Given the description of an element on the screen output the (x, y) to click on. 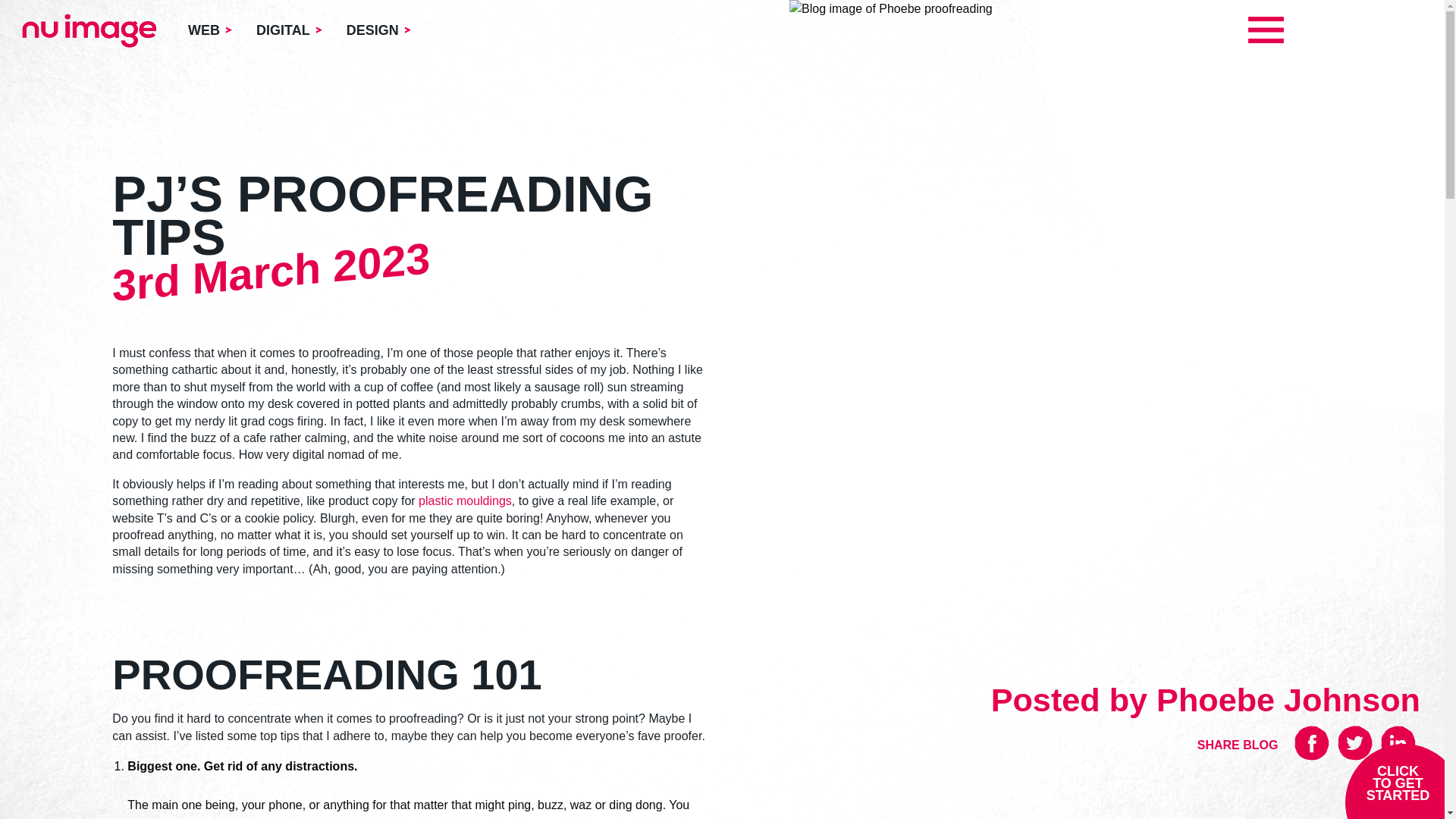
DESIGN (378, 29)
plastic mouldings (465, 500)
WEB (209, 29)
DIGITAL (288, 29)
